Given the description of an element on the screen output the (x, y) to click on. 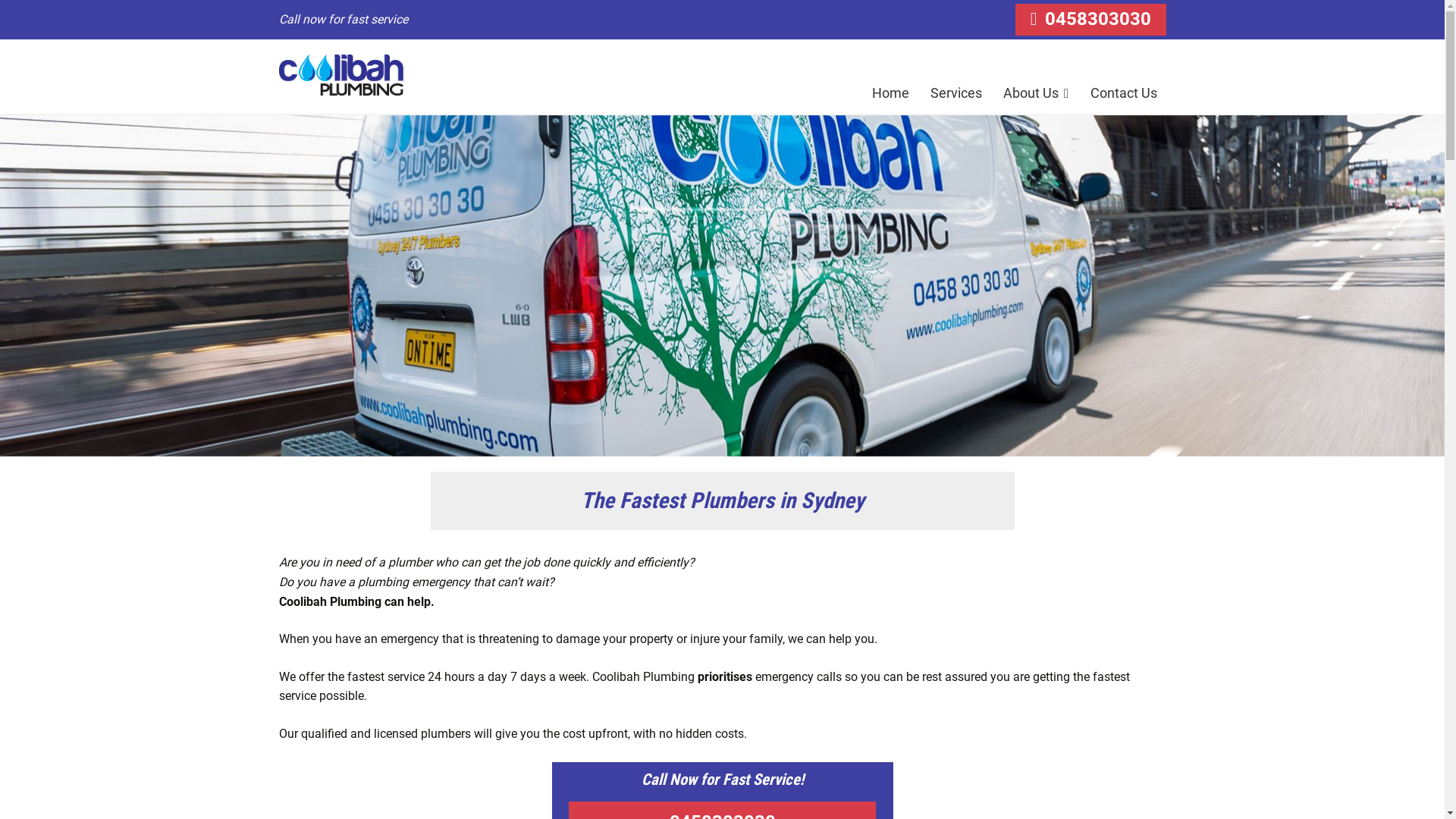
Services Element type: text (956, 93)
About Us Element type: text (1035, 93)
0458303030 Element type: text (1090, 19)
Back to Coolibah Plumbing homepage Element type: hover (341, 75)
Contact Us Element type: text (1123, 93)
Home Element type: text (890, 93)
